Given the description of an element on the screen output the (x, y) to click on. 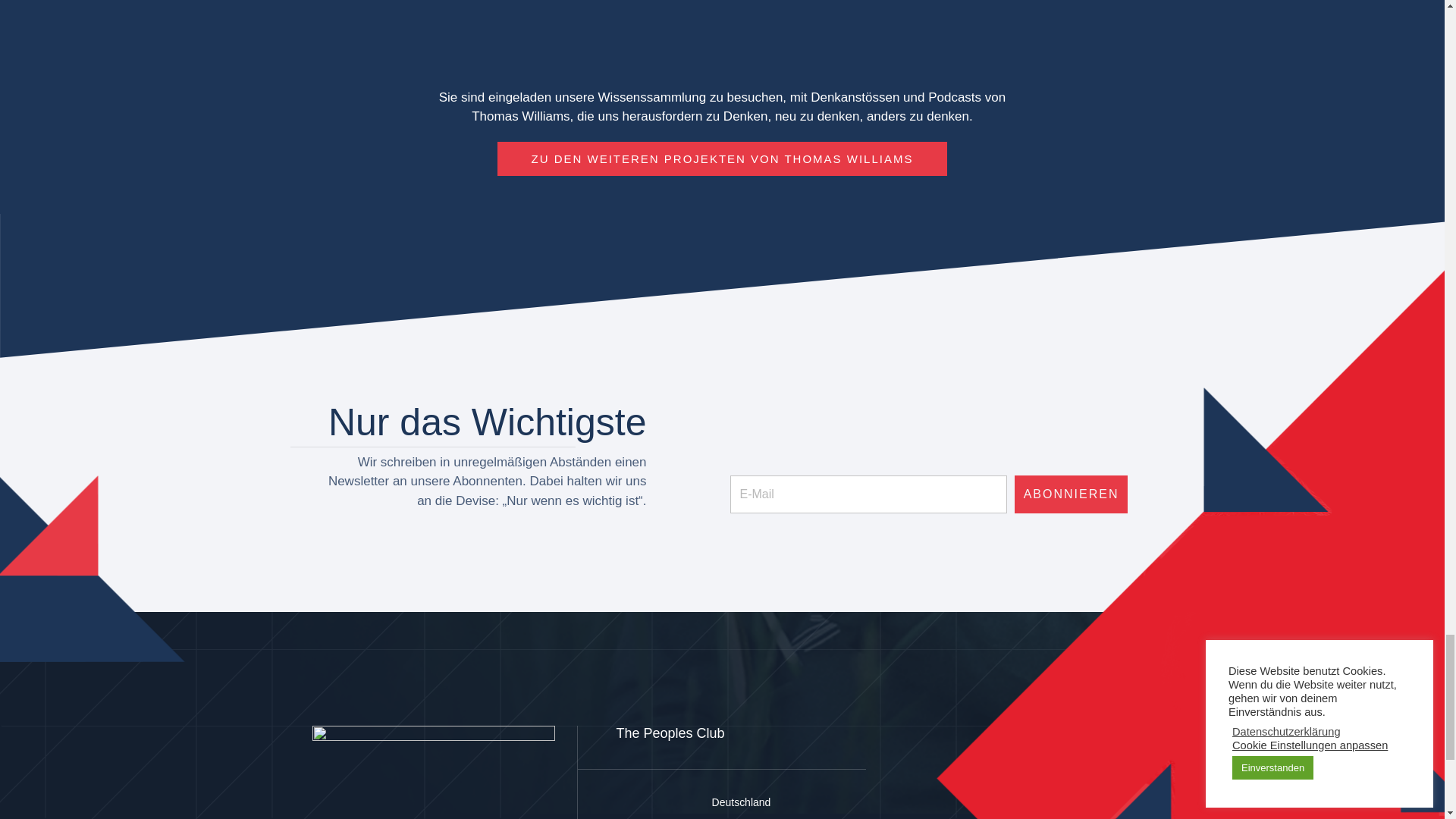
ZU DEN WEITEREN PROJEKTEN VON THOMAS WILLIAMS (722, 158)
Abonnieren (1071, 494)
Abonnieren (1071, 494)
